Given the description of an element on the screen output the (x, y) to click on. 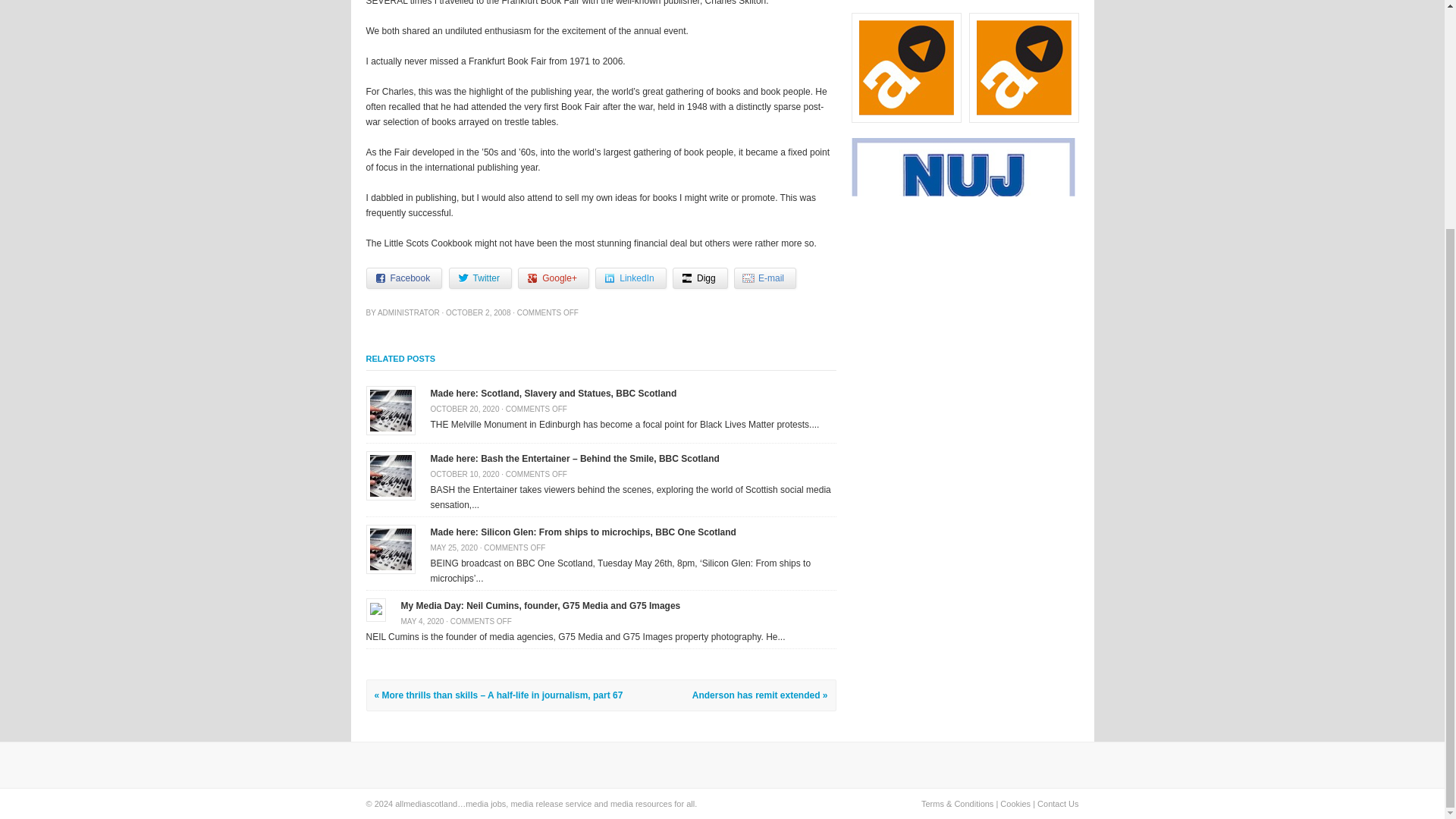
Share this article on Digg (700, 278)
Share this article on LinkedIn (630, 278)
Share this article on Facebook (403, 278)
Share this article on Twitter (480, 278)
